Given the description of an element on the screen output the (x, y) to click on. 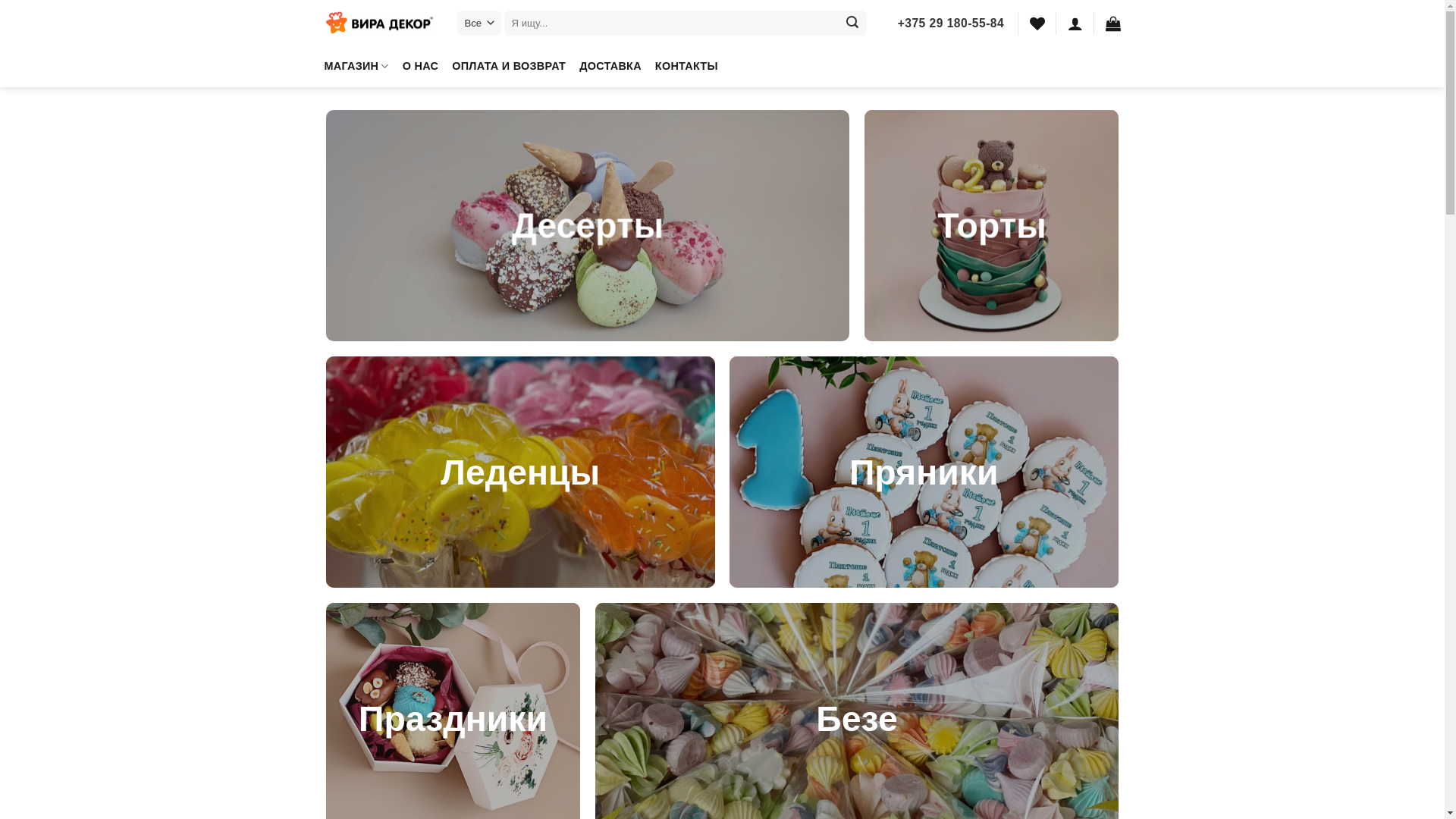
+375 29 180-55-84 Element type: text (950, 23)
